Given the description of an element on the screen output the (x, y) to click on. 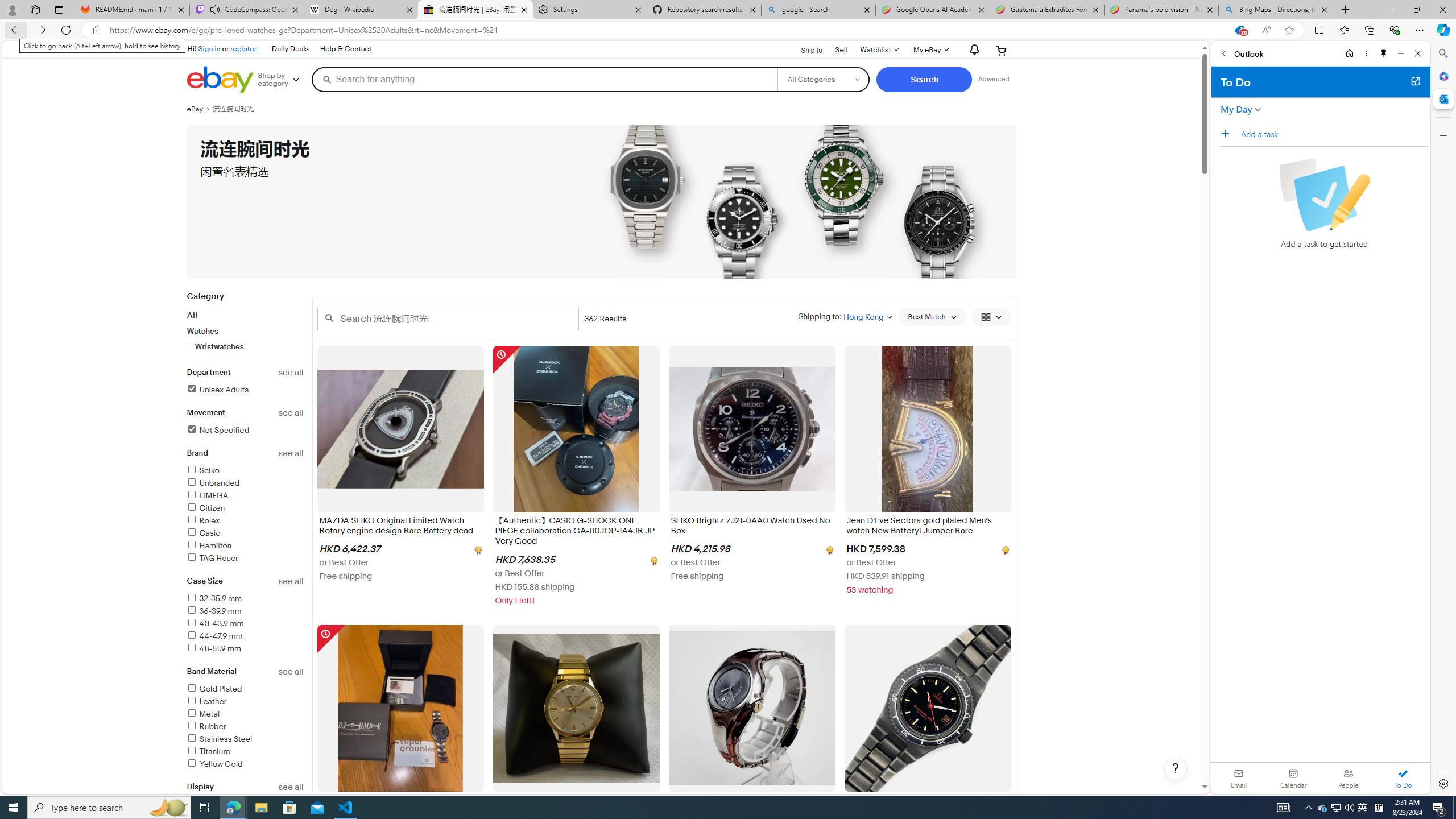
AllWatchesWristwatches (245, 330)
Citizen (205, 507)
See all band material refinements (291, 671)
36-39.9 mm (245, 611)
Titanium (208, 751)
See all display refinements (291, 787)
Titanium (245, 751)
SEIKO Brightz 7J21-0AA0 Watch Used No Box (751, 527)
